Given the description of an element on the screen output the (x, y) to click on. 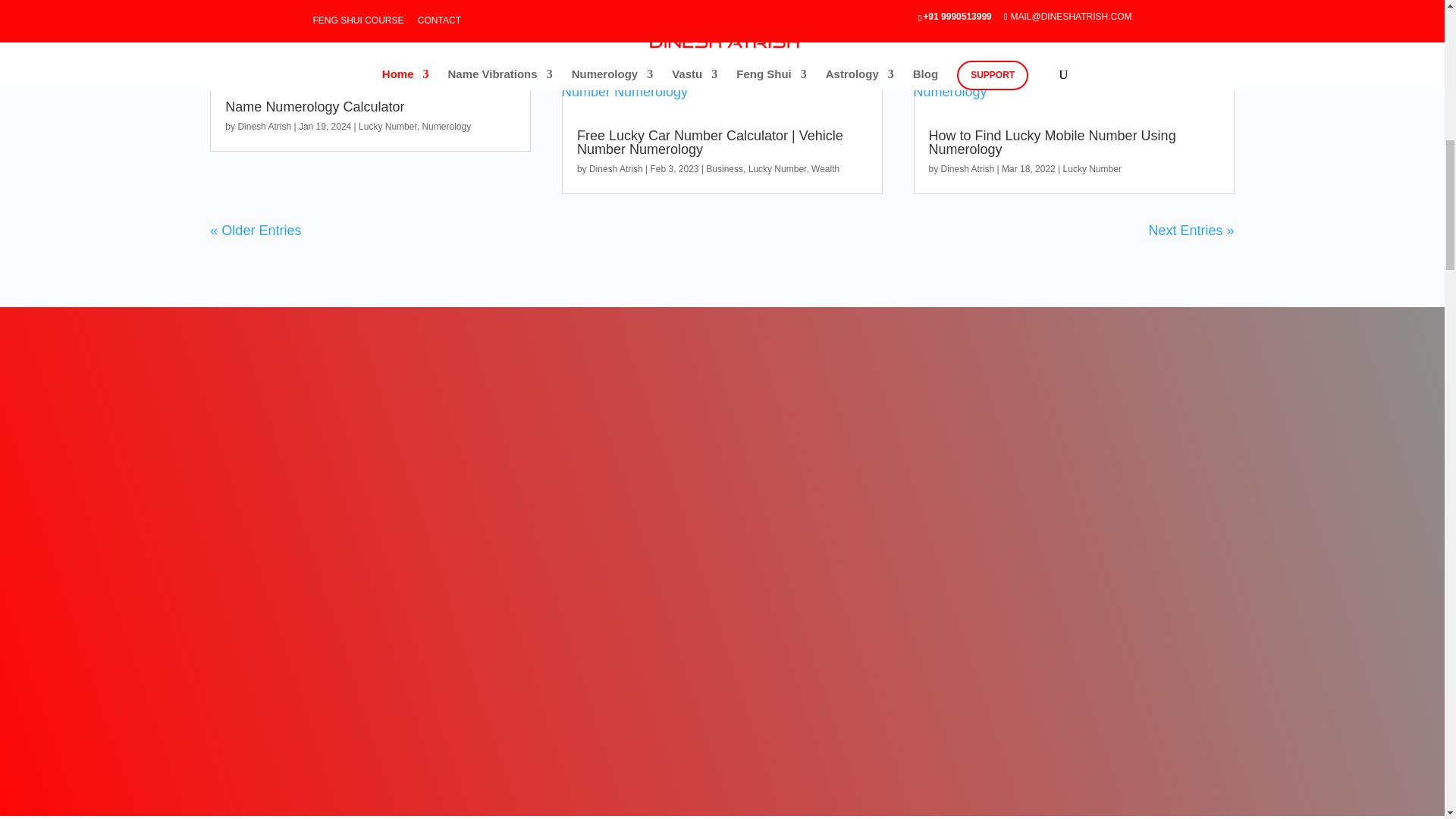
Posts by Dinesh Atrish (264, 126)
Posts by Dinesh Atrish (967, 168)
Posts by Dinesh Atrish (616, 168)
